Given the description of an element on the screen output the (x, y) to click on. 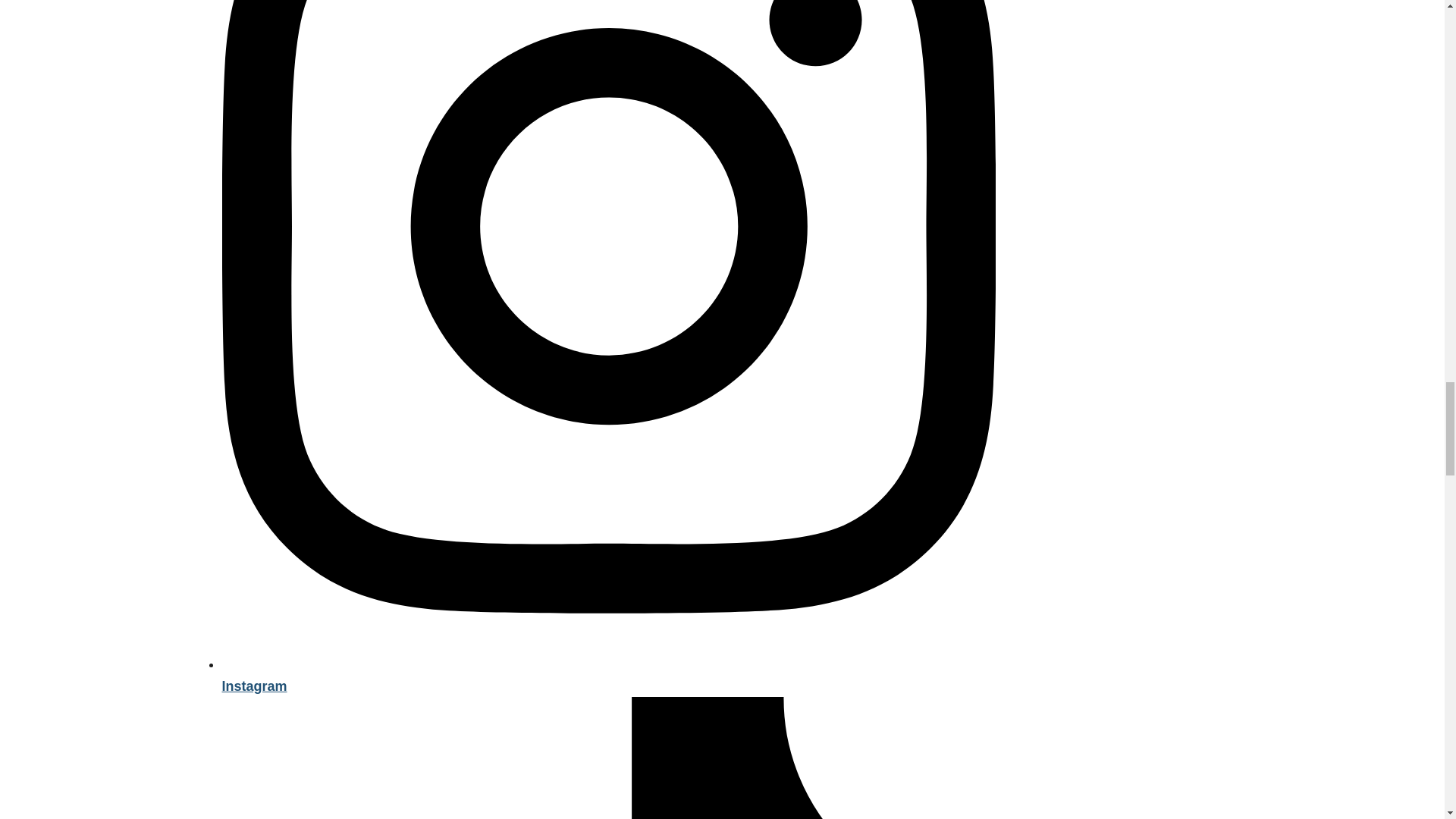
Instagram (607, 674)
